Given the description of an element on the screen output the (x, y) to click on. 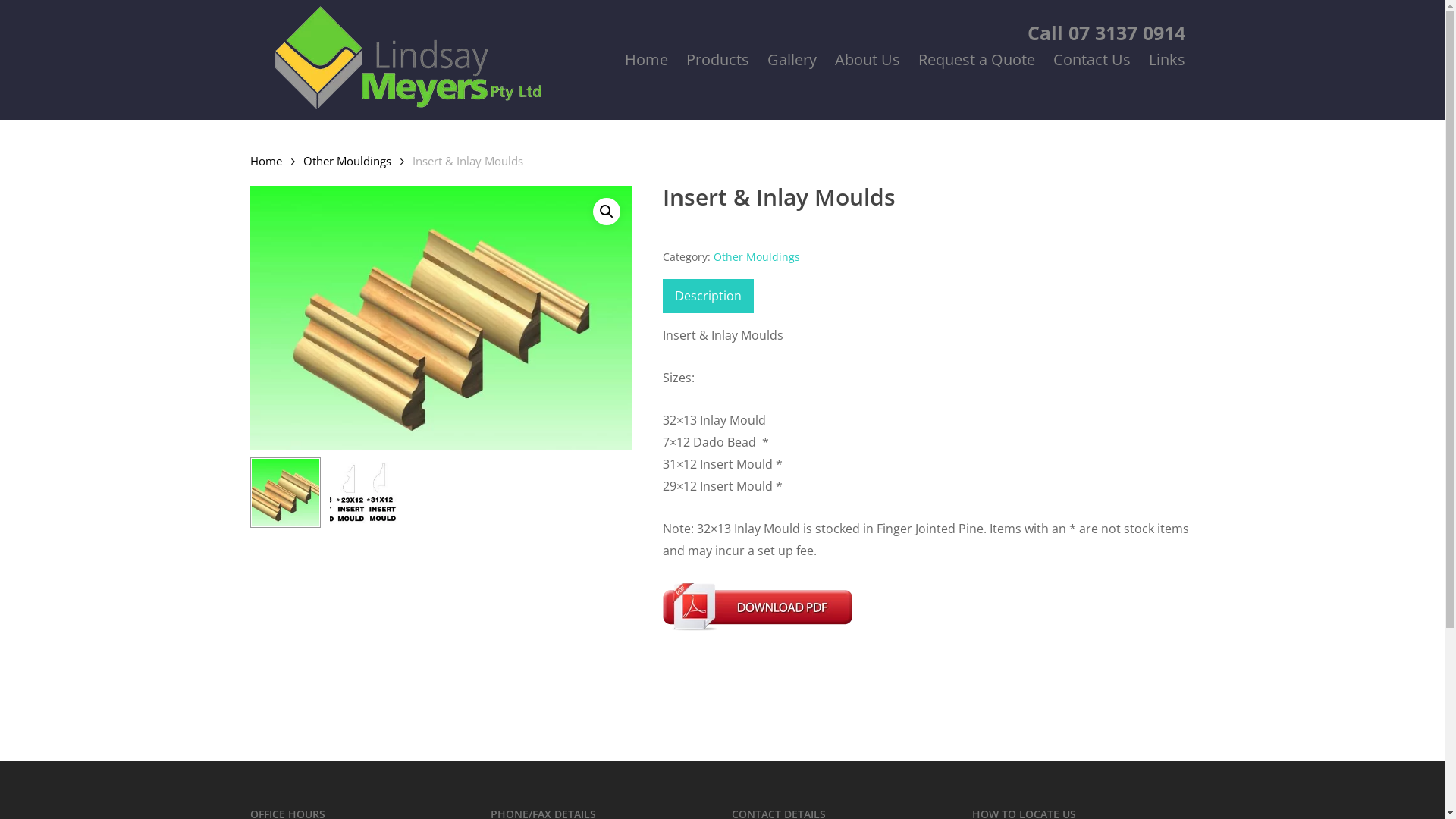
Contact Us Element type: text (1091, 59)
Request a Quote Element type: text (976, 59)
Other Mouldings Element type: text (756, 256)
Gallery Element type: text (791, 59)
48 Element type: hover (441, 317)
Call 07 3137 0914 Element type: text (1106, 21)
Links Element type: text (1166, 59)
About Us Element type: text (867, 59)
Other Mouldings Element type: text (347, 160)
Products Element type: text (717, 59)
Home Element type: text (266, 160)
Home Element type: text (646, 59)
Description Element type: text (707, 296)
